Given the description of an element on the screen output the (x, y) to click on. 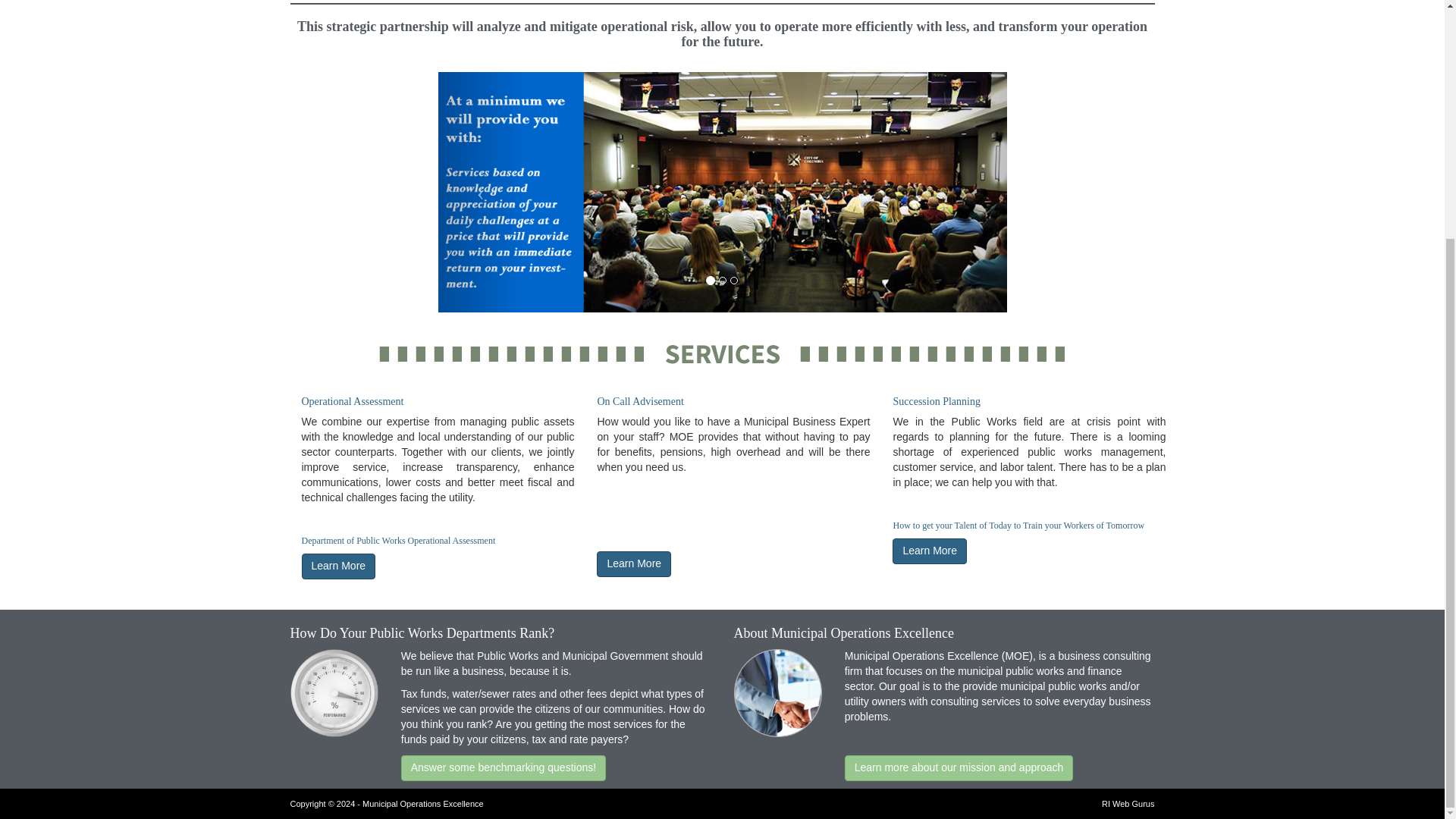
Answer some benchmarking questions! (503, 768)
Learn More (633, 564)
RI Web Gurus (1128, 803)
Learn more about our mission and approach (959, 768)
Learn More (929, 551)
Learn More (338, 566)
